Given the description of an element on the screen output the (x, y) to click on. 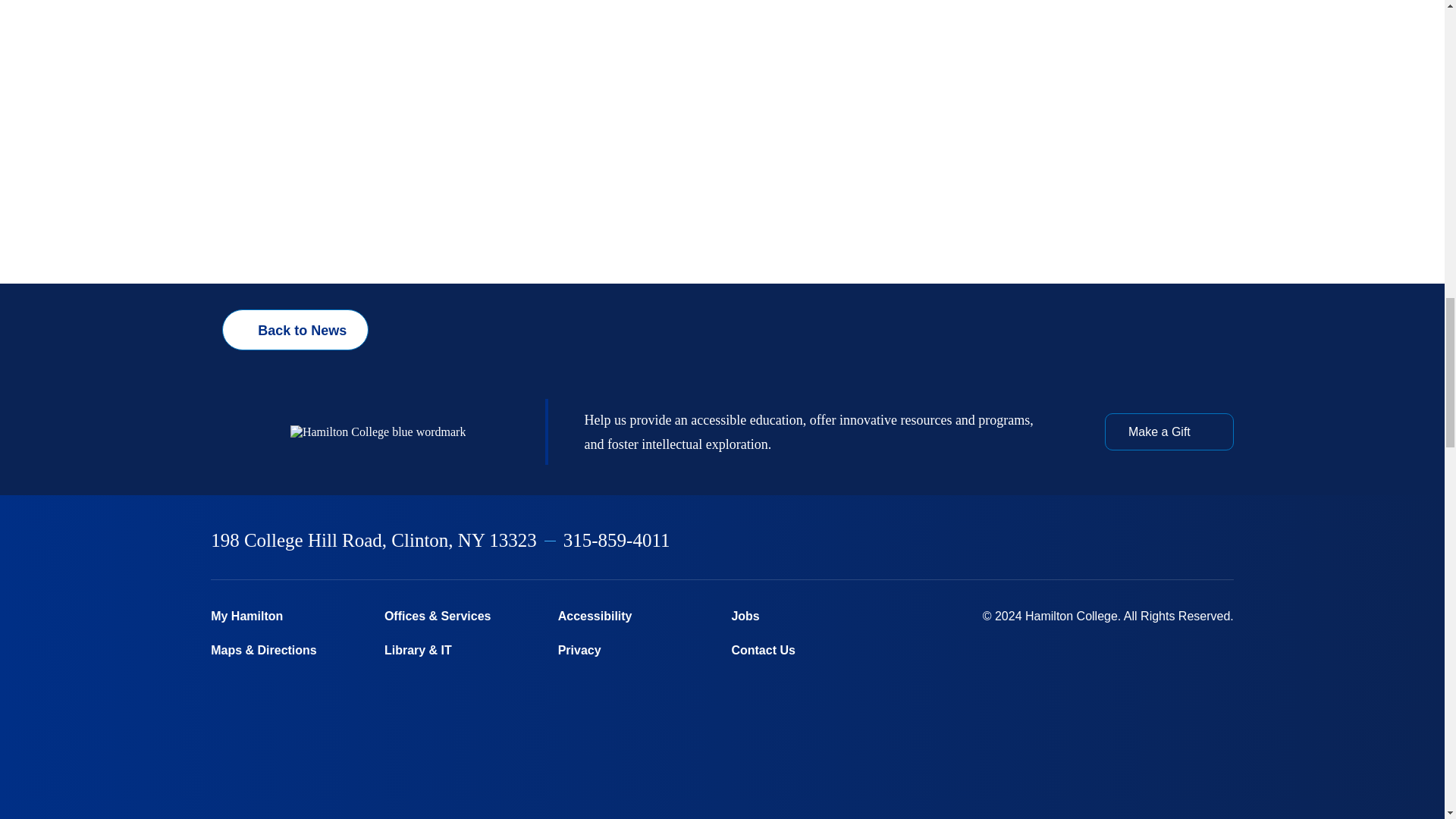
read more student research stories (947, 44)
Make a Gift (1169, 731)
Share This (455, 626)
Back to News (295, 626)
